Given the description of an element on the screen output the (x, y) to click on. 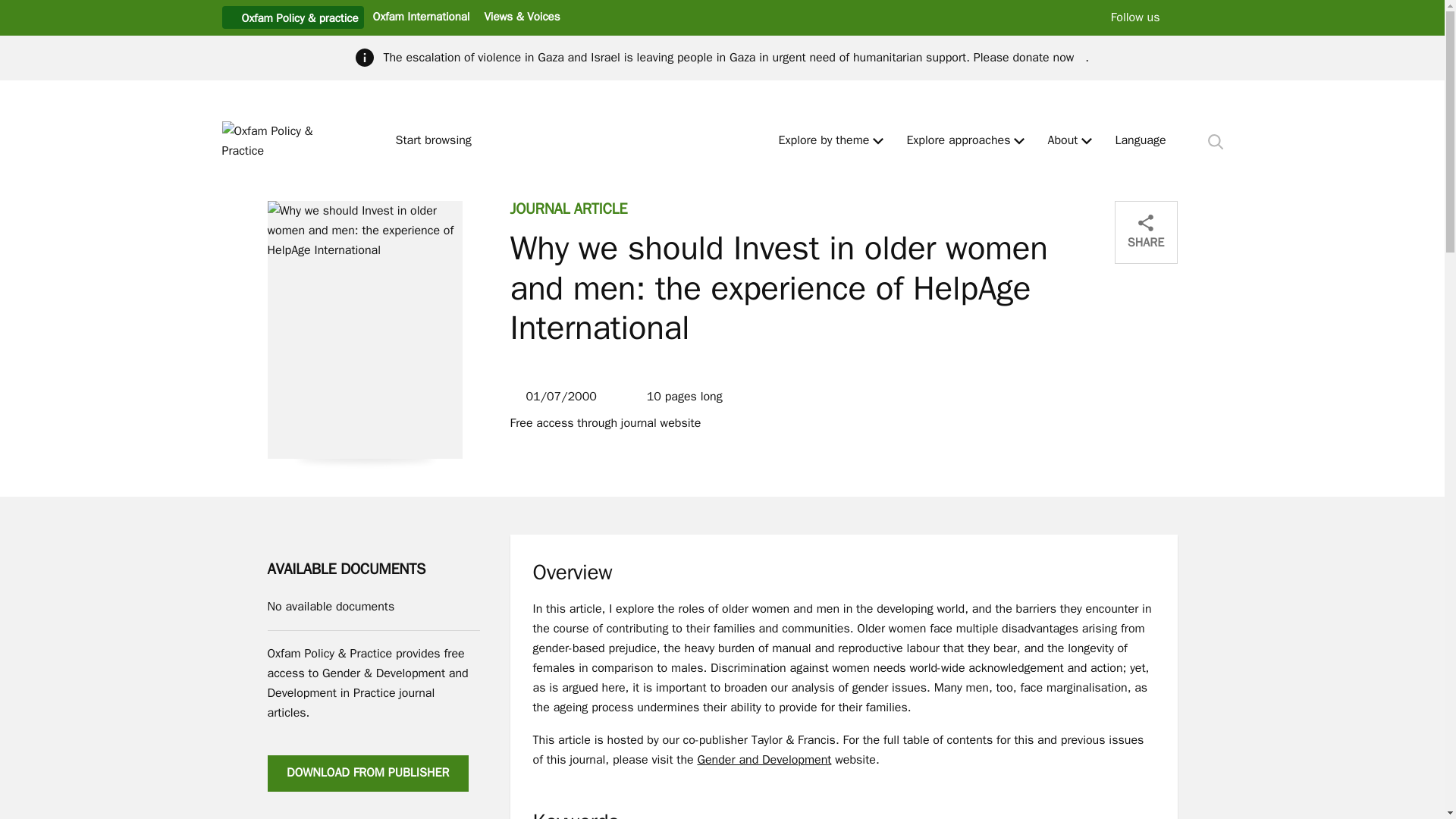
Search (1215, 140)
donate now (1047, 57)
Oxfam International (420, 16)
Start browsing (439, 140)
Explore approaches (957, 140)
Twitter (1184, 17)
Menu toggle (877, 141)
English (1140, 140)
About (1061, 140)
Skip to content (11, 5)
Explore by theme (823, 140)
Facebook (1216, 17)
Menu toggle (1019, 141)
Menu toggle (1086, 141)
Download from publisher (366, 773)
